Given the description of an element on the screen output the (x, y) to click on. 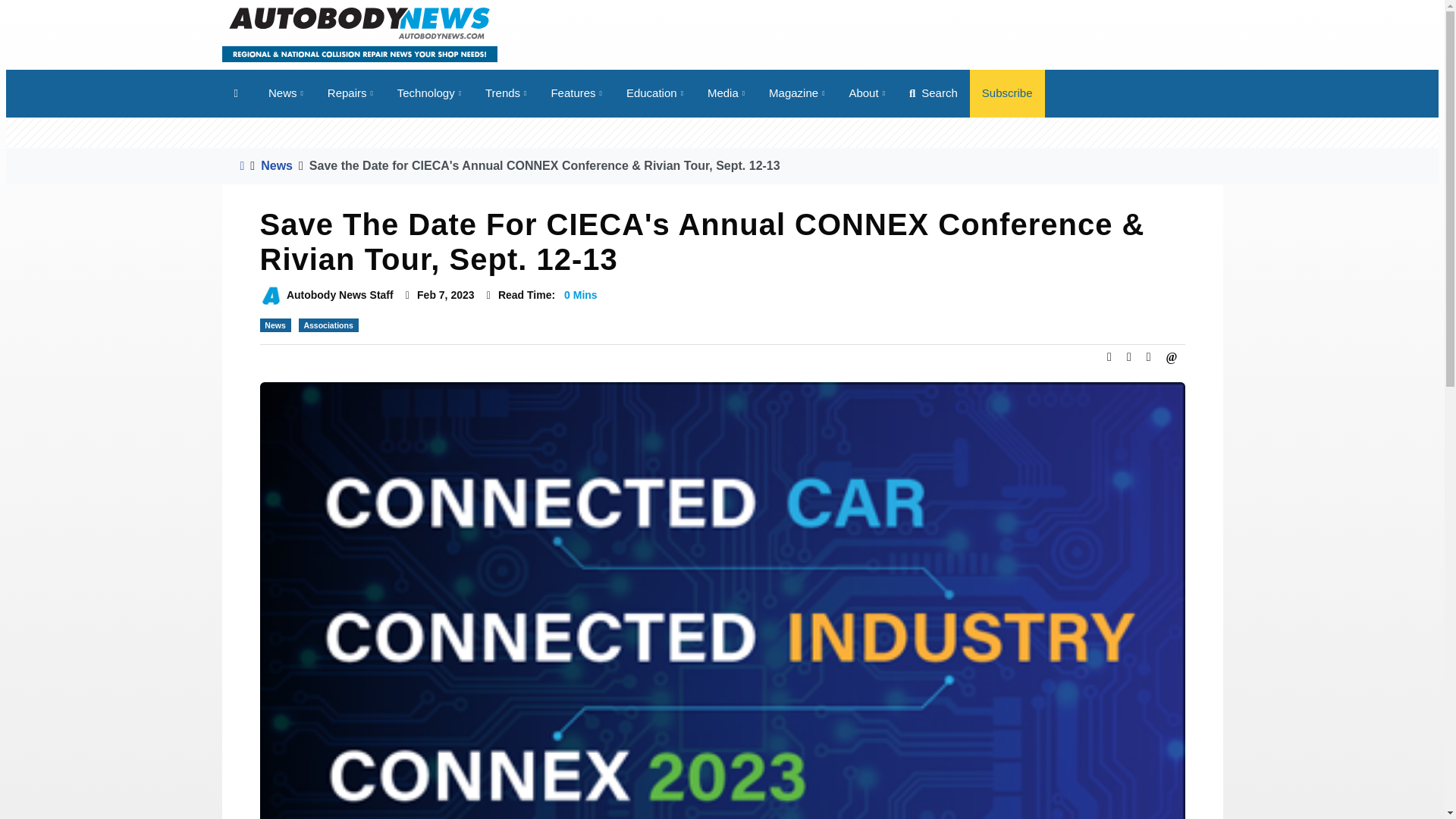
Autobody News (358, 33)
Repairs (350, 93)
Technology (429, 93)
Estimated time to read (488, 295)
Share This Article on Twitter (1128, 356)
Share This Article on LinkedIn (1148, 356)
News (285, 93)
Email This Article (1171, 356)
Trends (505, 93)
Features (576, 93)
